Given the description of an element on the screen output the (x, y) to click on. 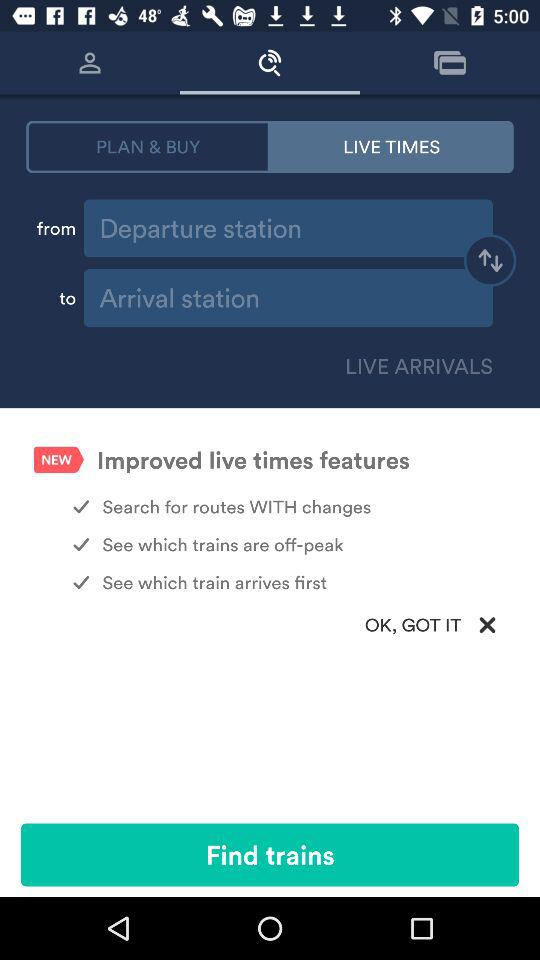
write arrival station (288, 298)
